Given the description of an element on the screen output the (x, y) to click on. 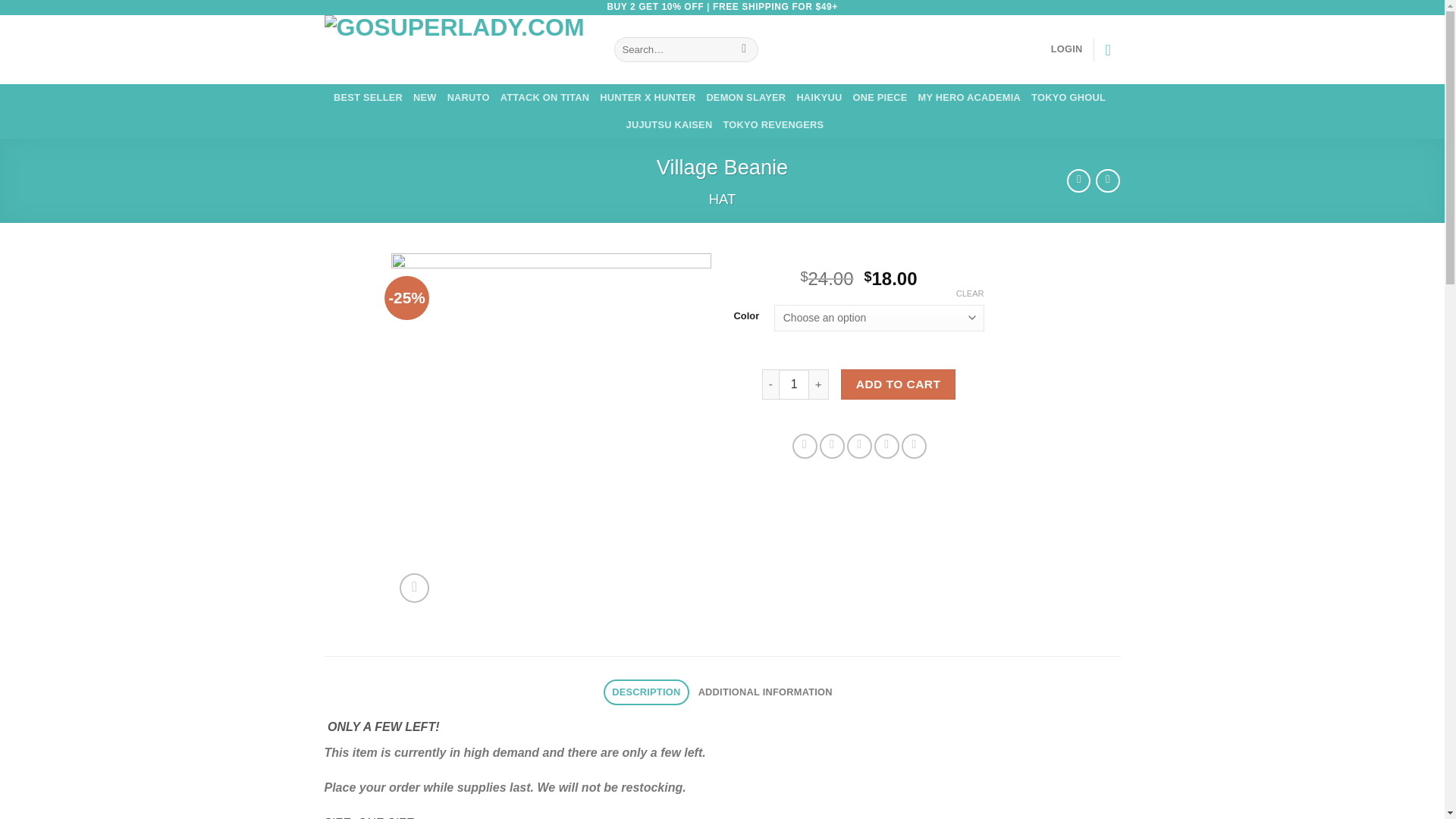
TOKYO REVENGERS (773, 124)
Login (1067, 49)
Search (744, 49)
HAT (722, 198)
MY HERO ACADEMIA (968, 97)
Pin on Pinterest (887, 446)
1 (793, 384)
Share on Twitter (831, 446)
TOKYO GHOUL (1067, 97)
Zoom (413, 587)
